Given the description of an element on the screen output the (x, y) to click on. 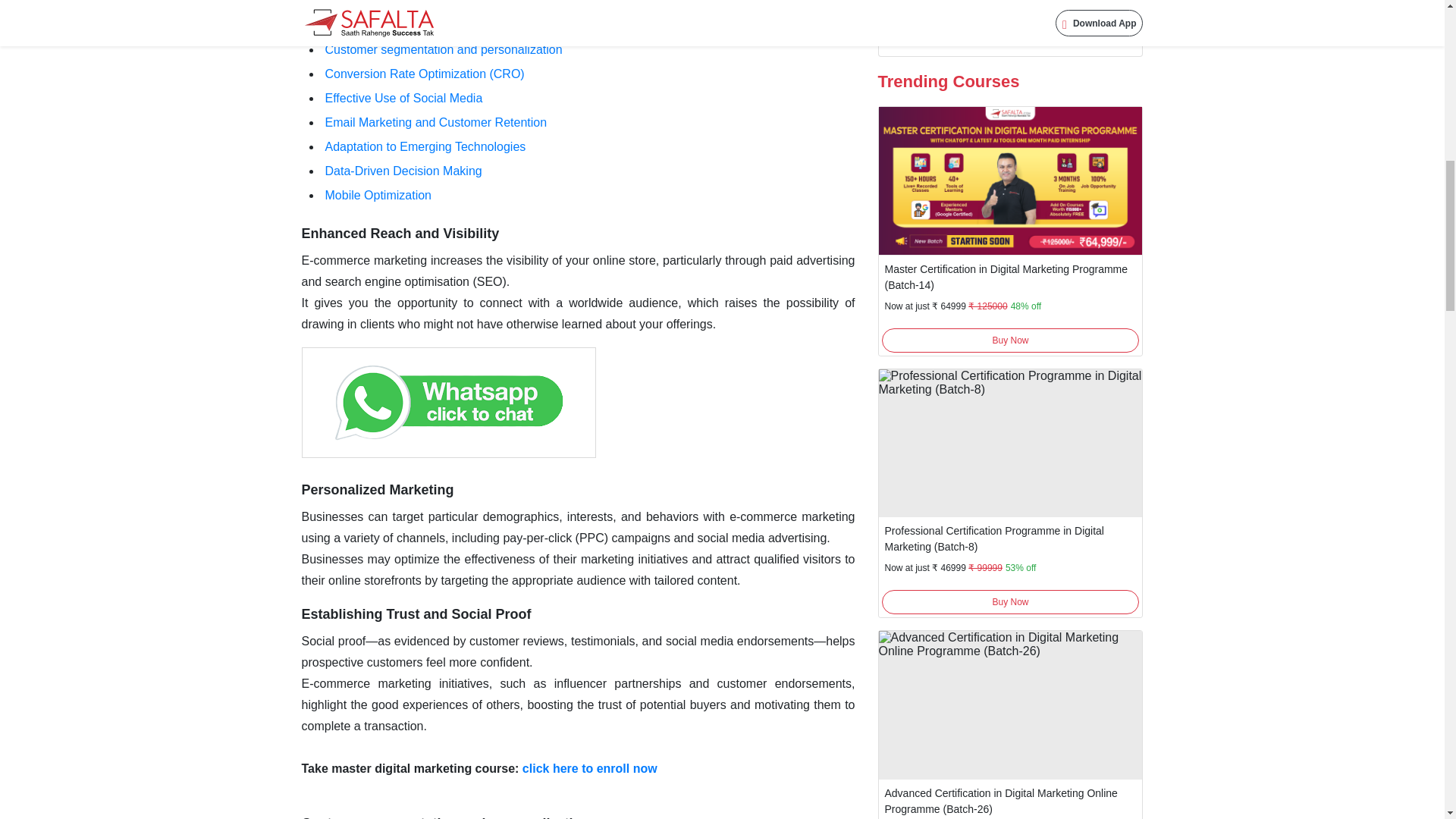
Adaptation to Emerging Technologies (424, 146)
Effective Use of Social Media (402, 97)
Customer segmentation and personalization (445, 817)
click here to enroll now (590, 768)
Mobile Optimization (377, 195)
Customer segmentation and personalization (443, 49)
Establishing Trust and Social Proof (418, 24)
Enhanced Reach and Visibility (400, 233)
Personalized Marketing (377, 489)
Data-Driven Decision Making (402, 170)
Continue (1009, 14)
Email Marketing and Customer Retention (435, 122)
Personalized Marketing (387, 3)
Establishing Trust and Social Proof (416, 613)
